Given the description of an element on the screen output the (x, y) to click on. 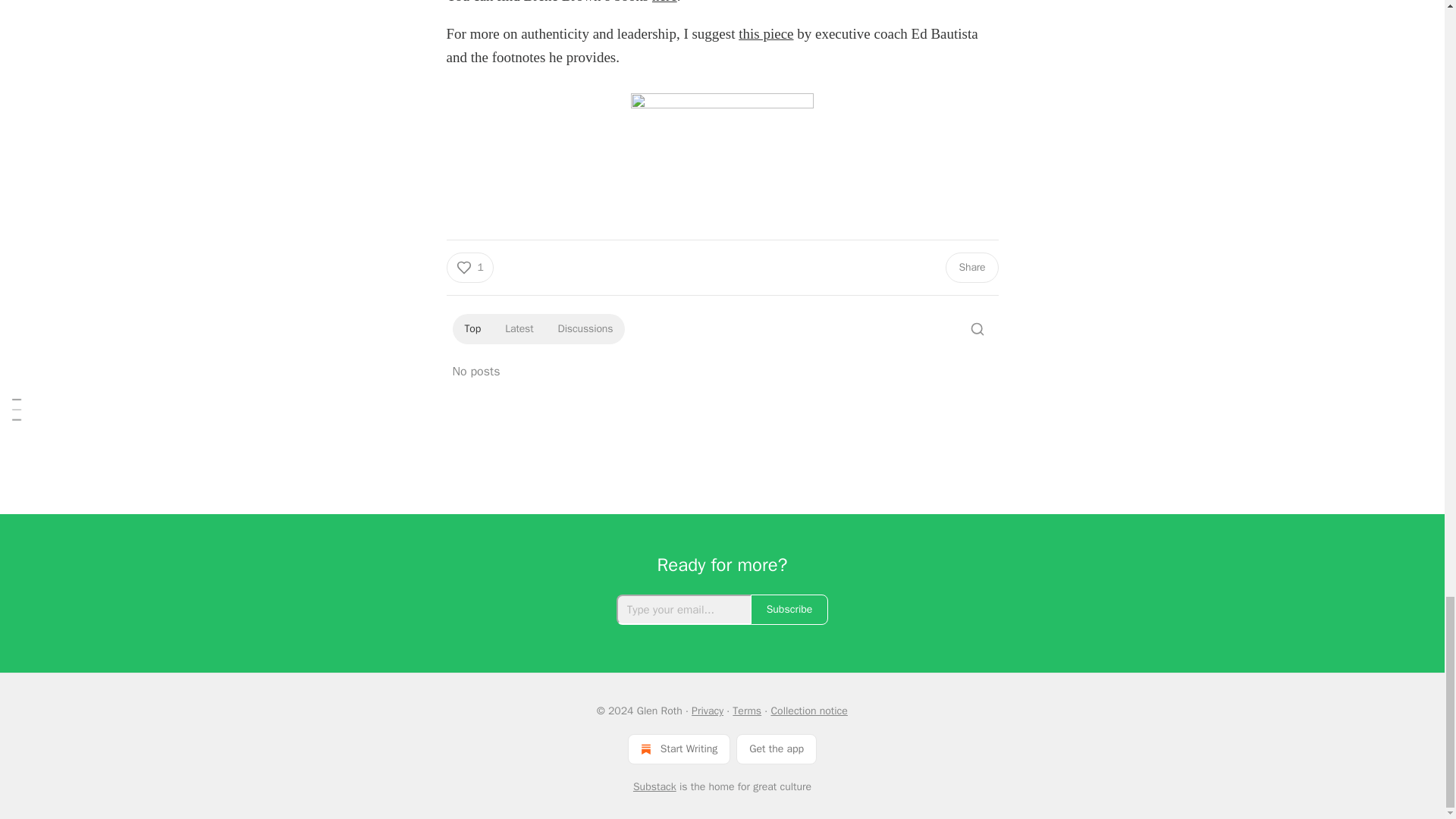
here (664, 2)
Share (970, 267)
this piece (765, 33)
1 (469, 267)
